Given the description of an element on the screen output the (x, y) to click on. 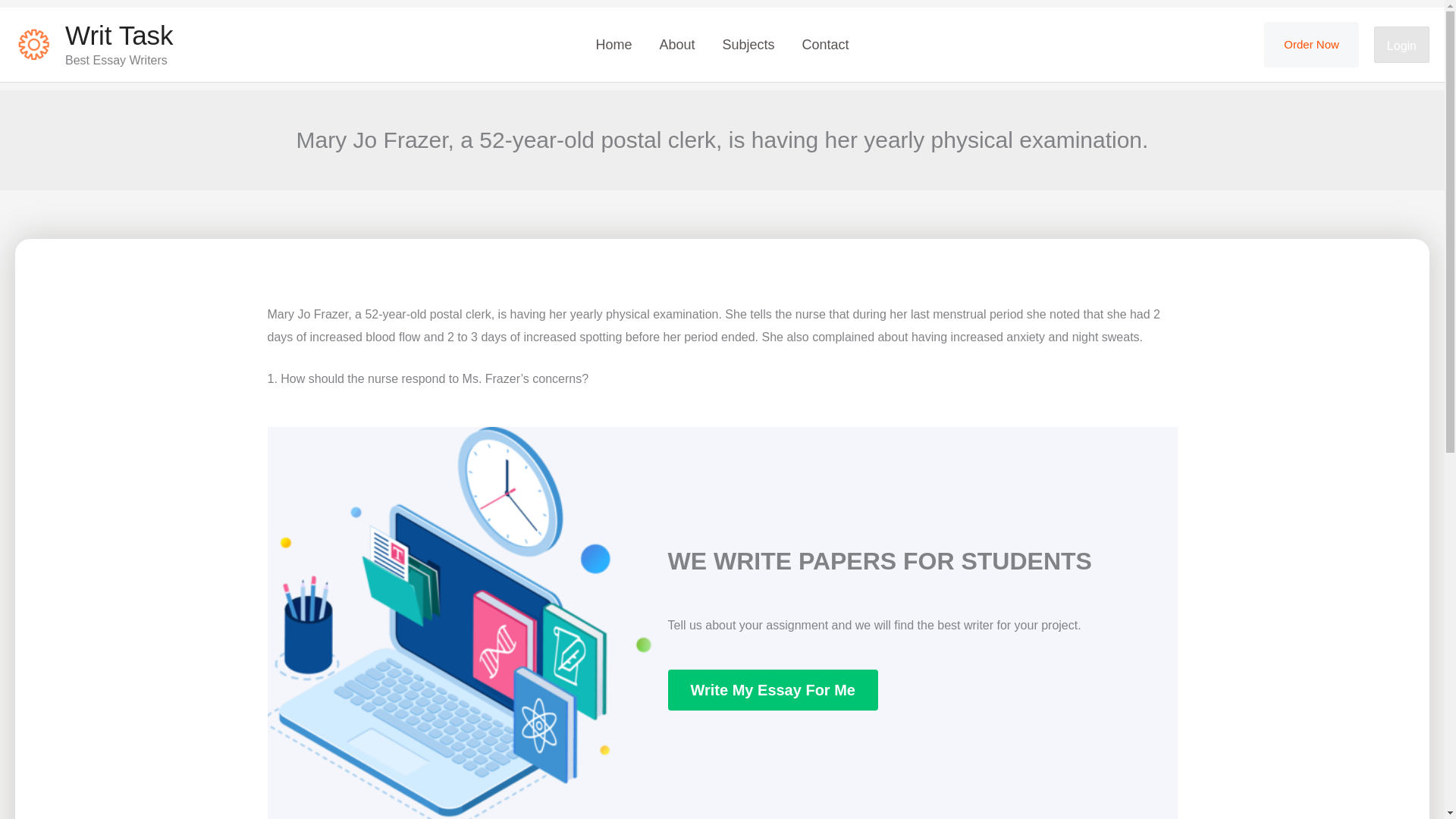
Writ Task (119, 34)
Login (1401, 45)
Contact (826, 44)
About (676, 44)
Home (612, 44)
Write My Essay For Me (771, 689)
Login (1401, 44)
Subjects (747, 44)
Order Now (1310, 44)
